Given the description of an element on the screen output the (x, y) to click on. 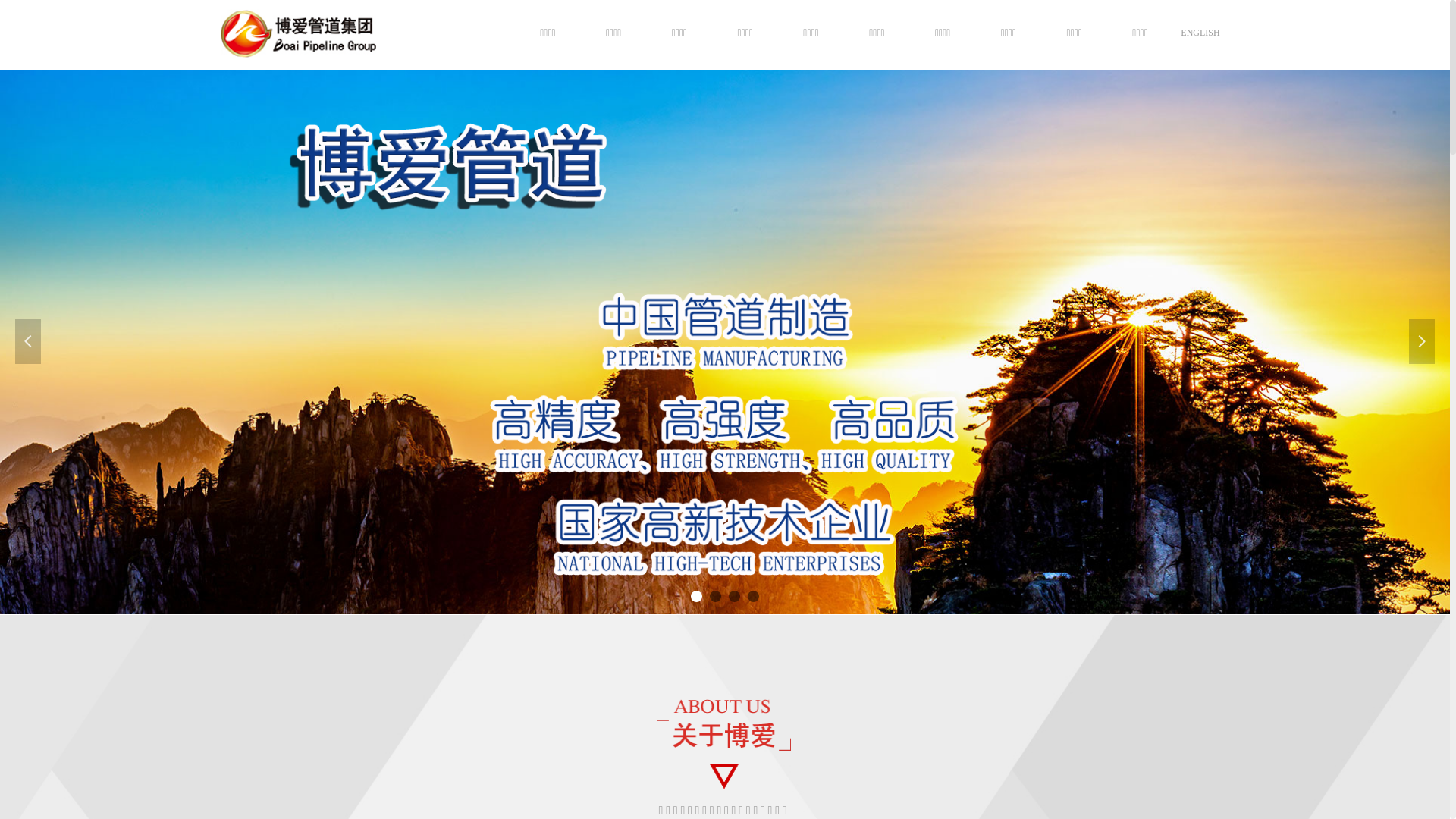
1 Element type: hover (329, 33)
ENGLISH Element type: text (1200, 32)
